Given the description of an element on the screen output the (x, y) to click on. 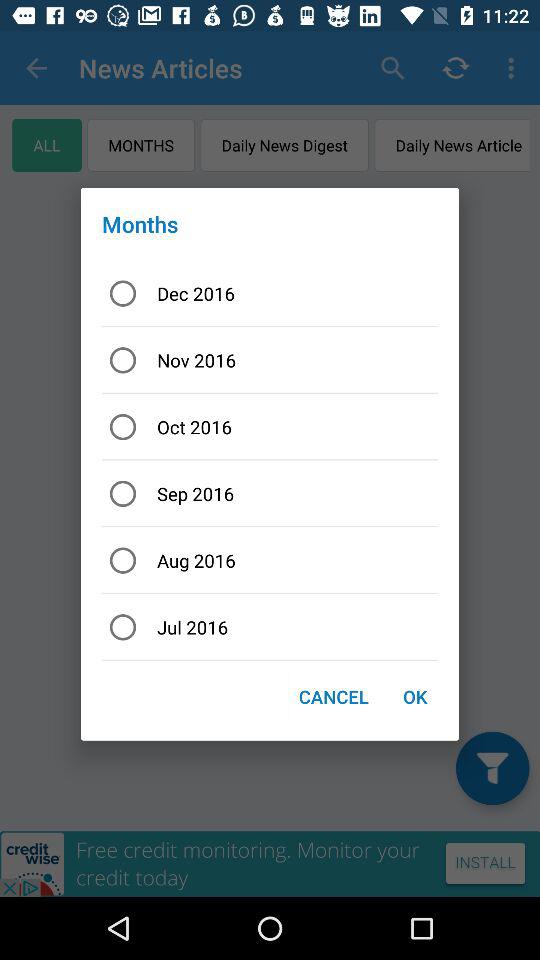
choose cancel item (333, 696)
